Given the description of an element on the screen output the (x, y) to click on. 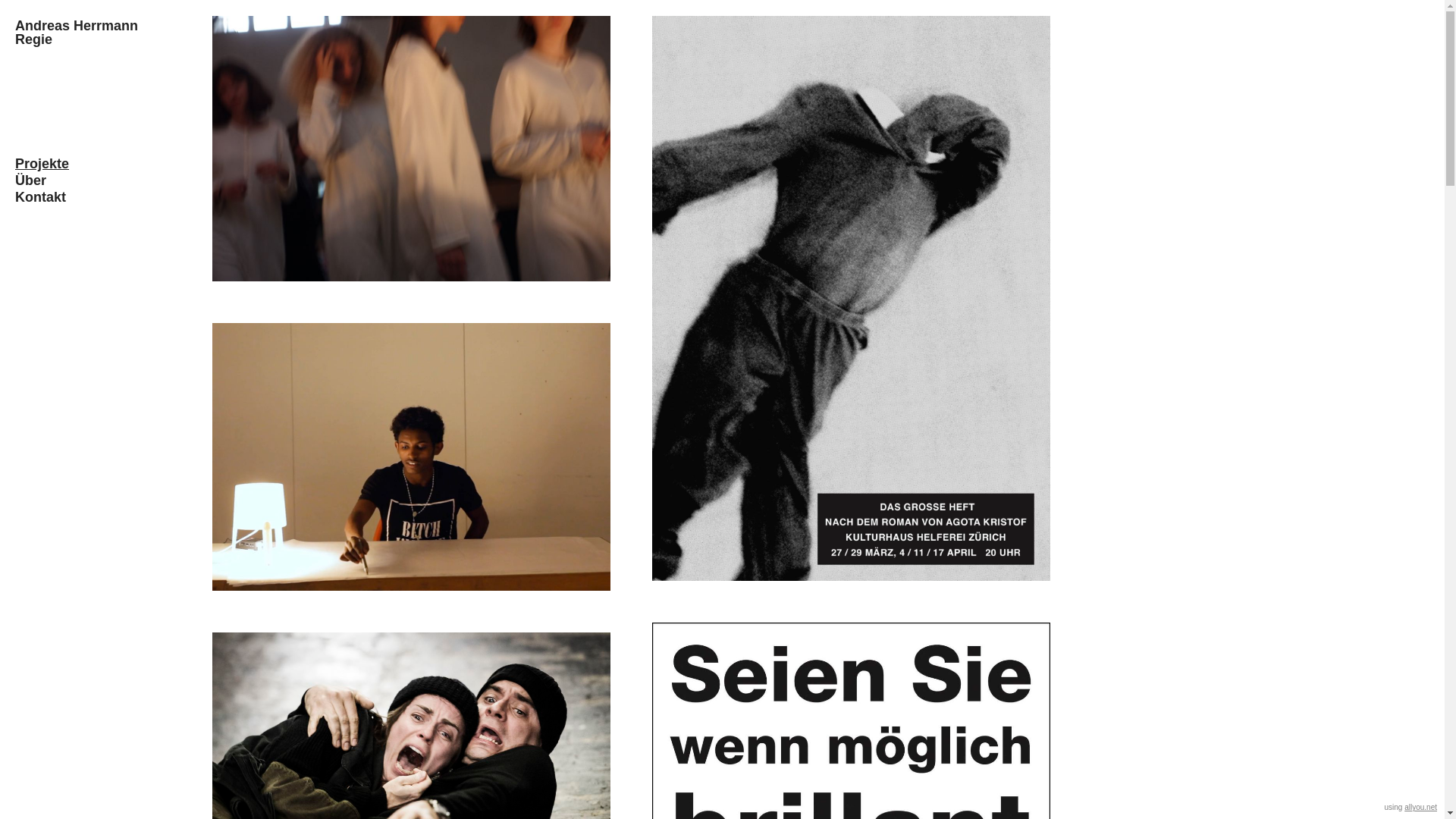
Projekte Element type: text (96, 163)
Andreas Herrmann
Regie Element type: text (76, 32)
allyou.net Element type: text (1420, 807)
Kontakt Element type: text (96, 196)
DAS GROSSE HEFT Element type: text (851, 297)
